Given the description of an element on the screen output the (x, y) to click on. 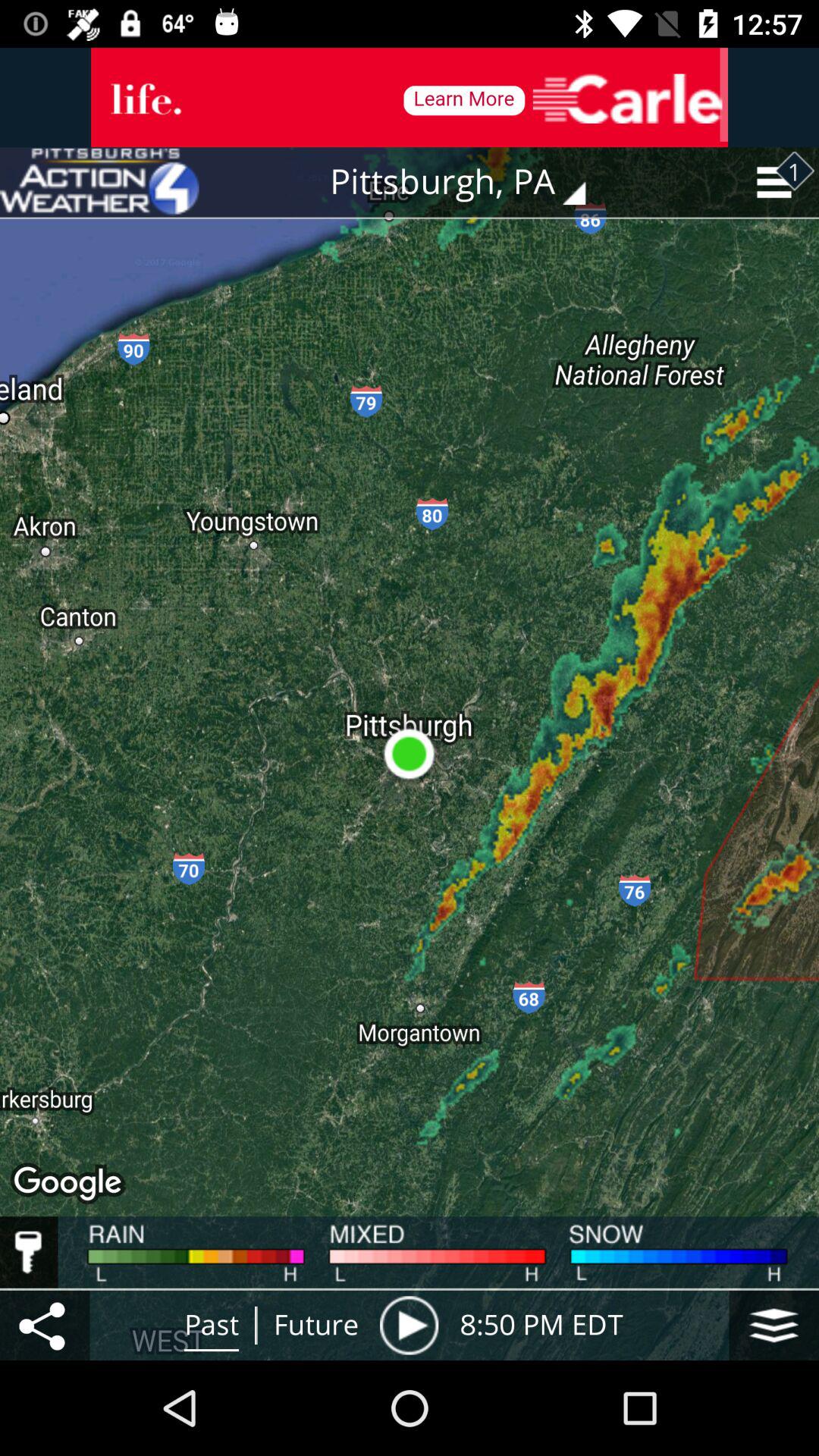
click icon next to 8 50 pm item (409, 1325)
